Given the description of an element on the screen output the (x, y) to click on. 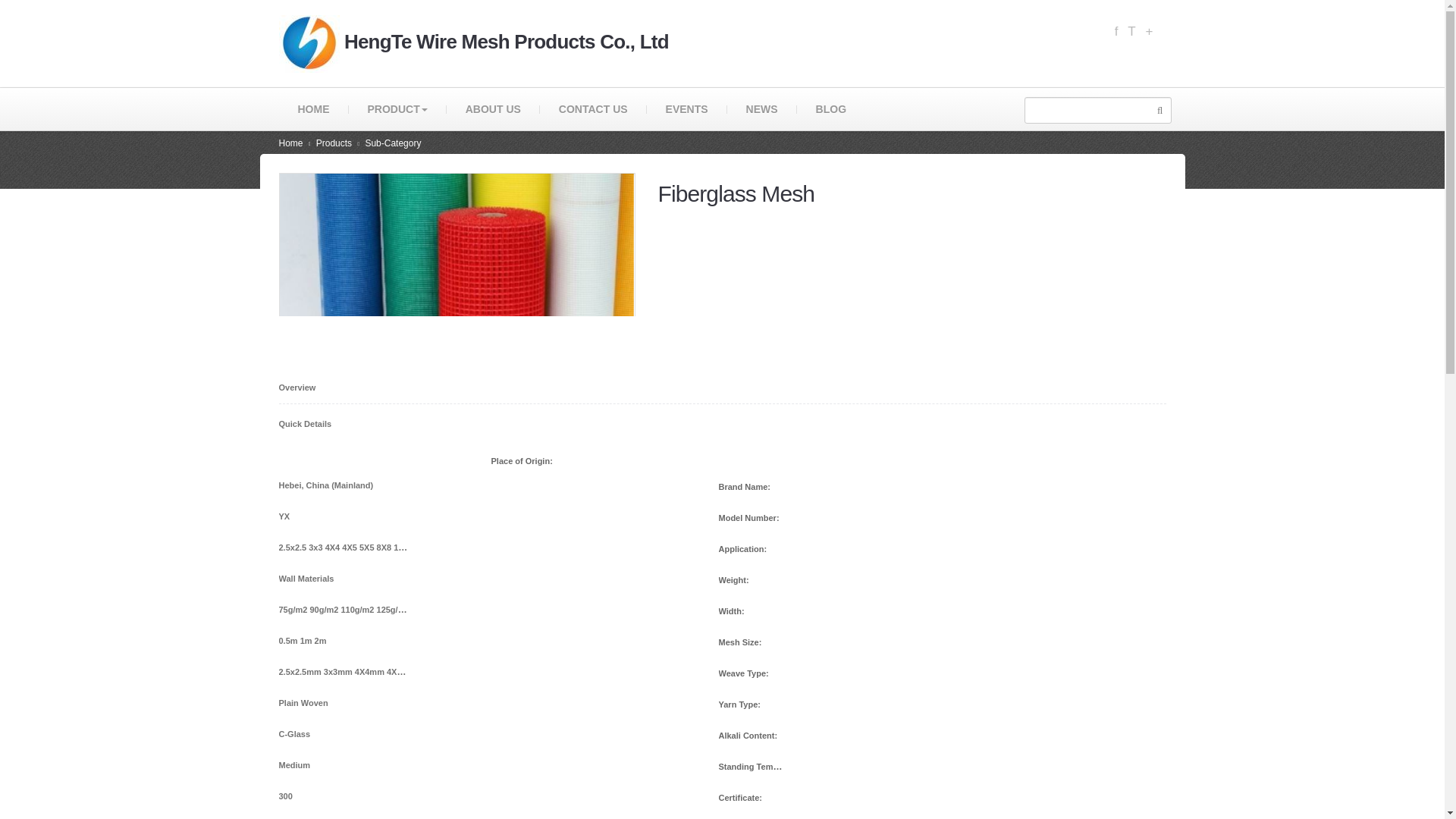
Home (290, 143)
Wall Materials (343, 578)
Products (333, 143)
EVENTS (686, 108)
NEWS (761, 108)
HOME (314, 108)
0.5m 1m 2m (343, 640)
Medium (343, 764)
C-Glass (343, 733)
2.5x2.5  3x3  4X4  4X5  5X5  8X8  10X10  12X12 (343, 546)
CONTACT US (593, 108)
YX (343, 515)
300 (343, 795)
PRODUCT (397, 108)
